Given the description of an element on the screen output the (x, y) to click on. 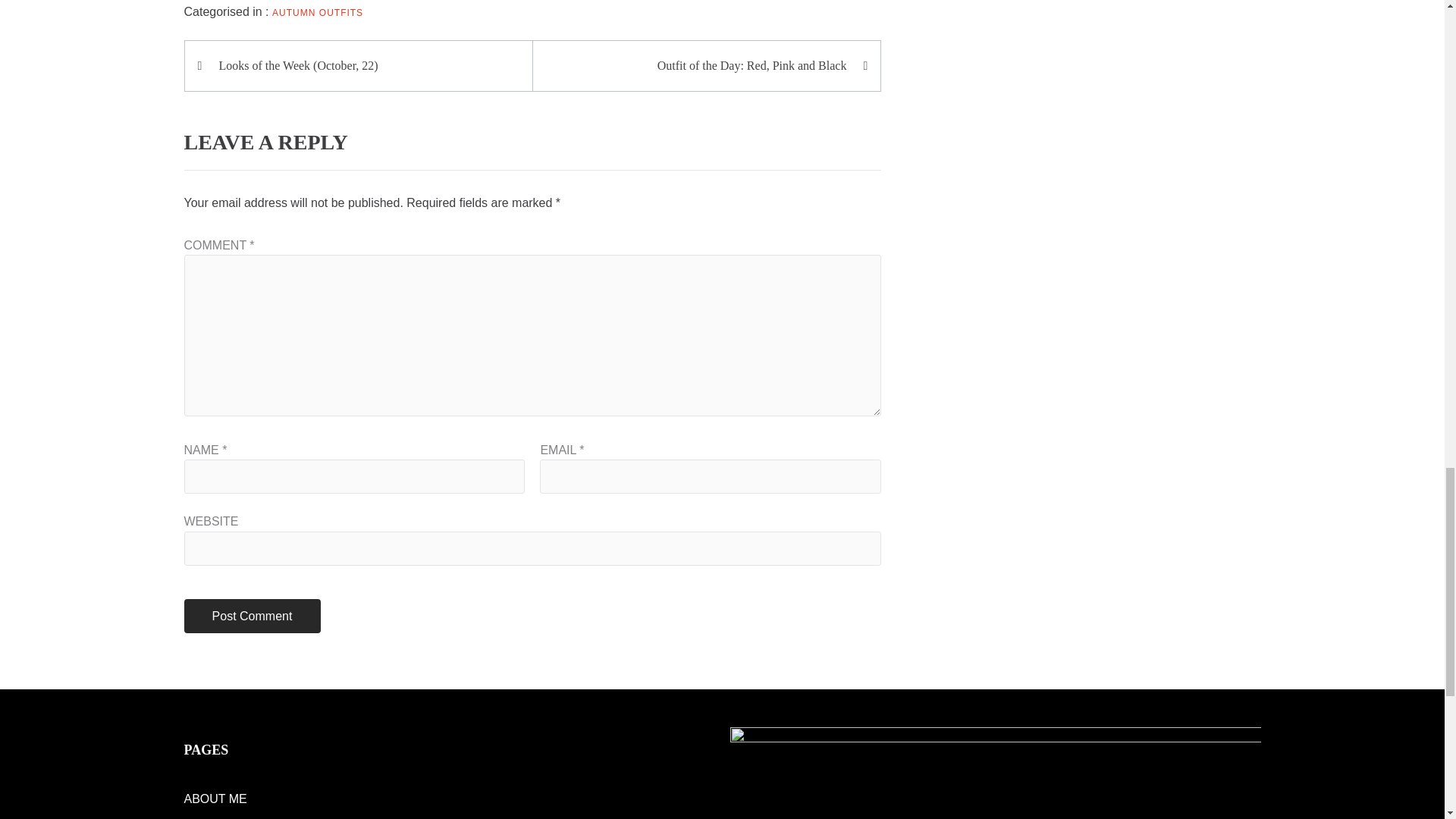
Post Comment (251, 615)
